Given the description of an element on the screen output the (x, y) to click on. 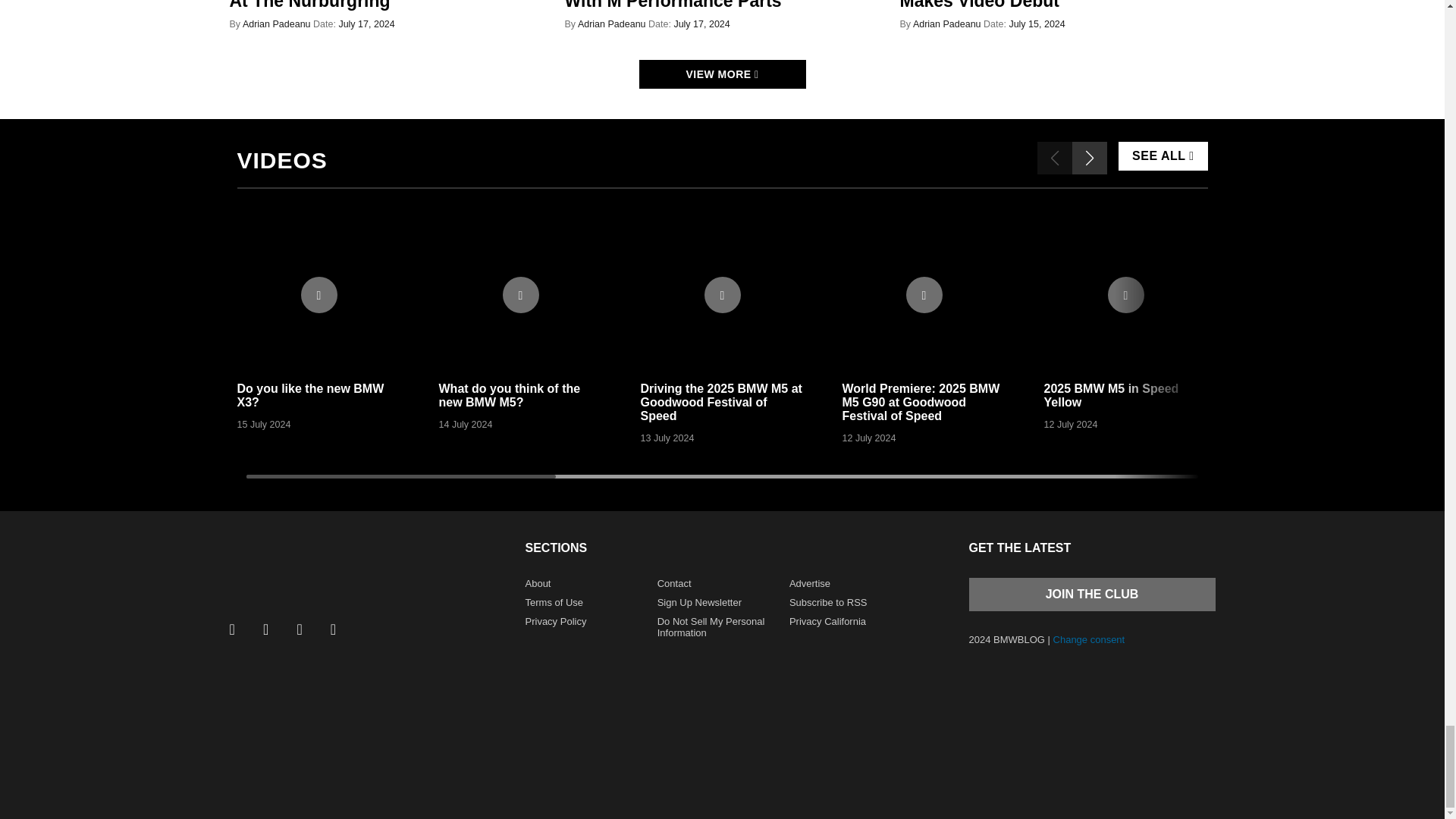
Join the club (1092, 593)
